Given the description of an element on the screen output the (x, y) to click on. 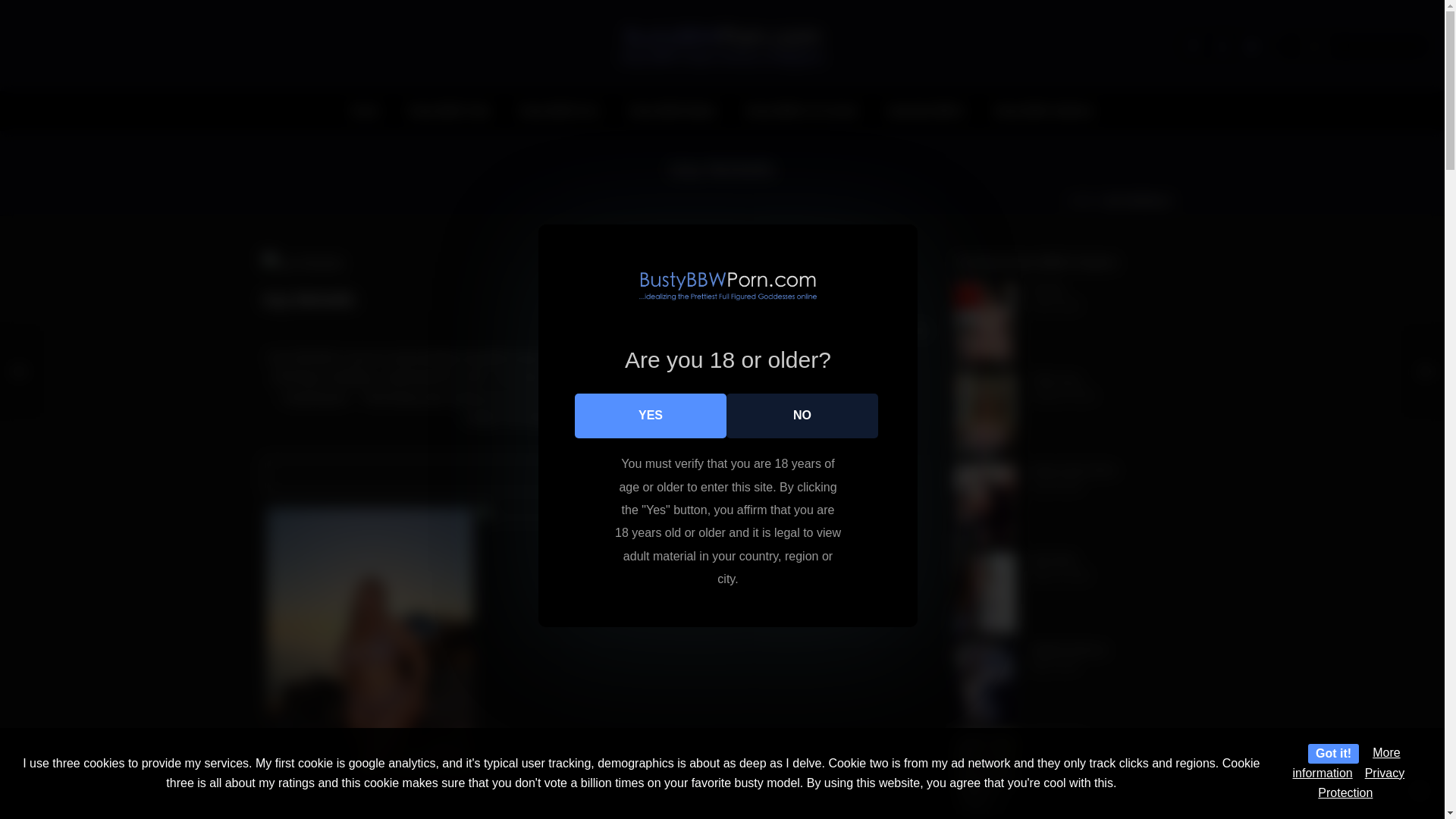
Privacy Protection (1361, 783)
Busty BBW Babes (672, 110)
Busty BBW Galleries (1043, 110)
Busty BBW Porn (559, 110)
Izzy Nicholls (594, 263)
Busty BBW Porn (722, 45)
Busty BBW Porn (559, 110)
Izzy Nicholls (303, 263)
Busty BBW Tube (449, 110)
Busty BBW Tube (449, 110)
